Given the description of an element on the screen output the (x, y) to click on. 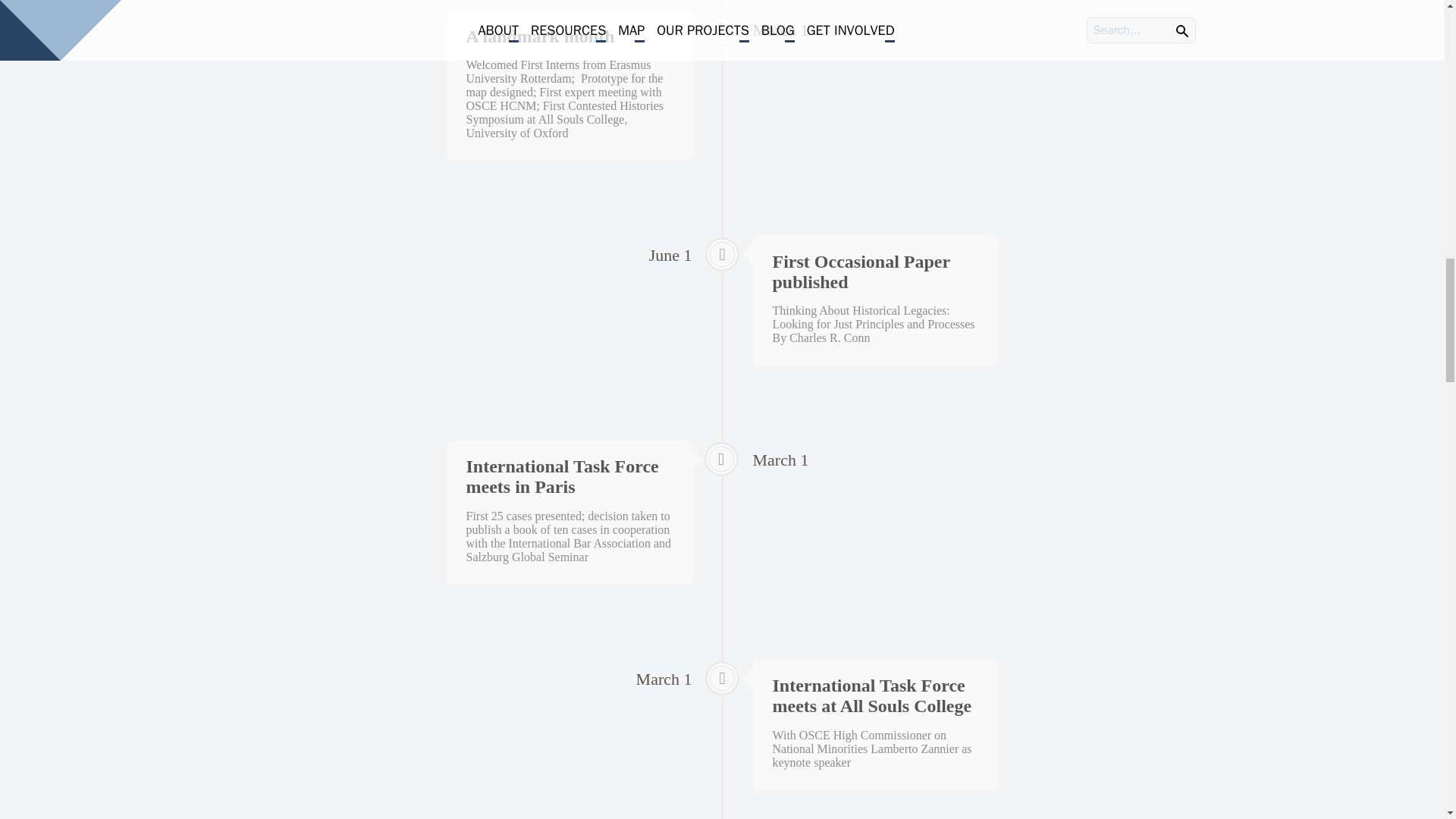
International Task Force meets in Paris (561, 476)
First Occasional Paper published (860, 271)
A landmark month (539, 35)
